Given the description of an element on the screen output the (x, y) to click on. 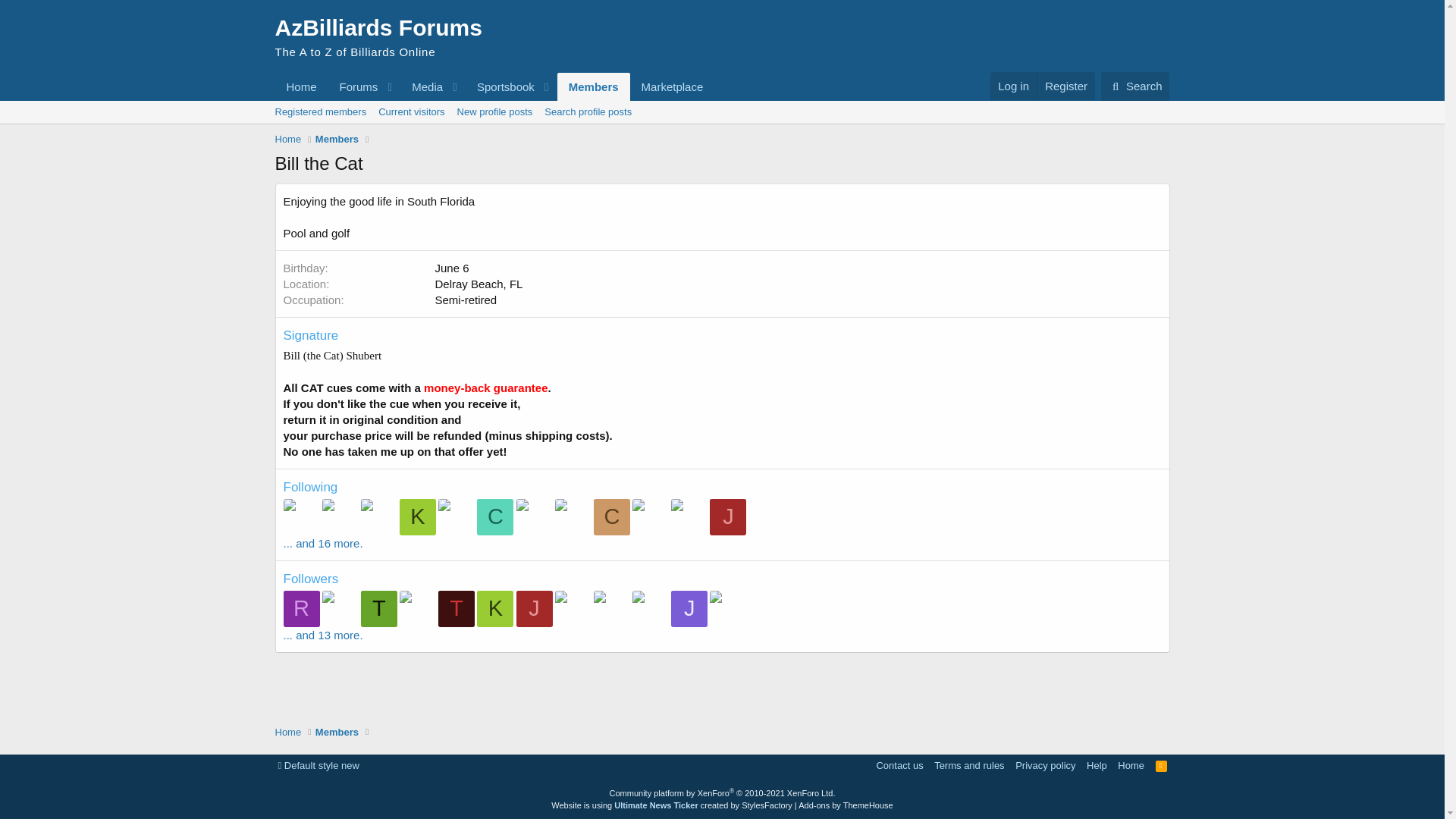
Members (593, 86)
Search (1135, 86)
Search (1135, 86)
Sportsbook (500, 86)
Marketplace (672, 86)
Current visitors (494, 86)
Forums (410, 111)
Registered members (378, 35)
